Given the description of an element on the screen output the (x, y) to click on. 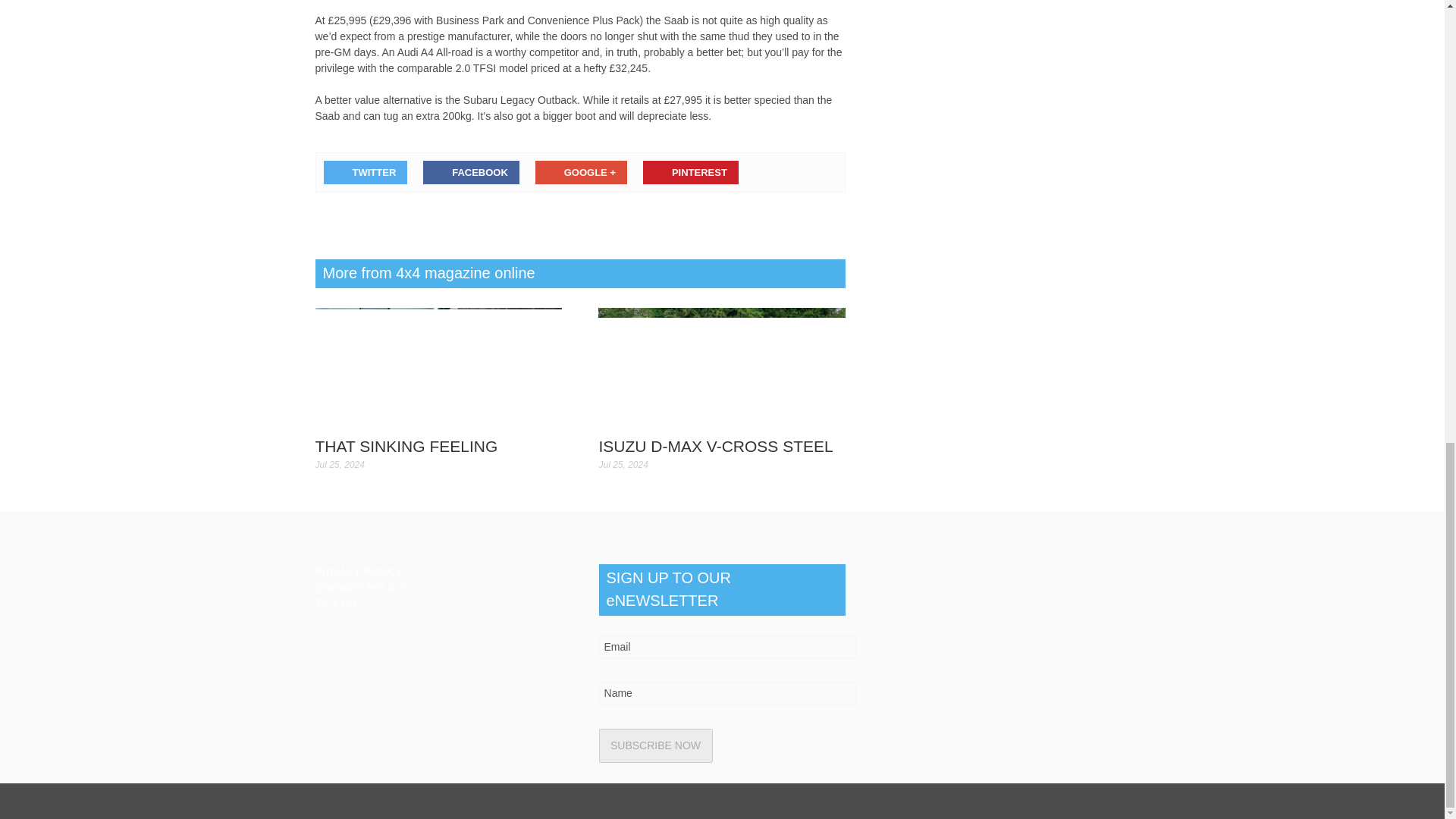
ISUZU D-MAX V-CROSS STEEL (721, 367)
FACEBOOK (471, 172)
ISUZU D-MAX V-CROSS STEEL (715, 446)
Email (727, 647)
THAT SINKING FEELING (438, 367)
PINTEREST (690, 172)
THAT SINKING FEELING (406, 446)
Name (727, 693)
SUBSCRIBE NOW (655, 745)
TWITTER (365, 172)
